Given the description of an element on the screen output the (x, y) to click on. 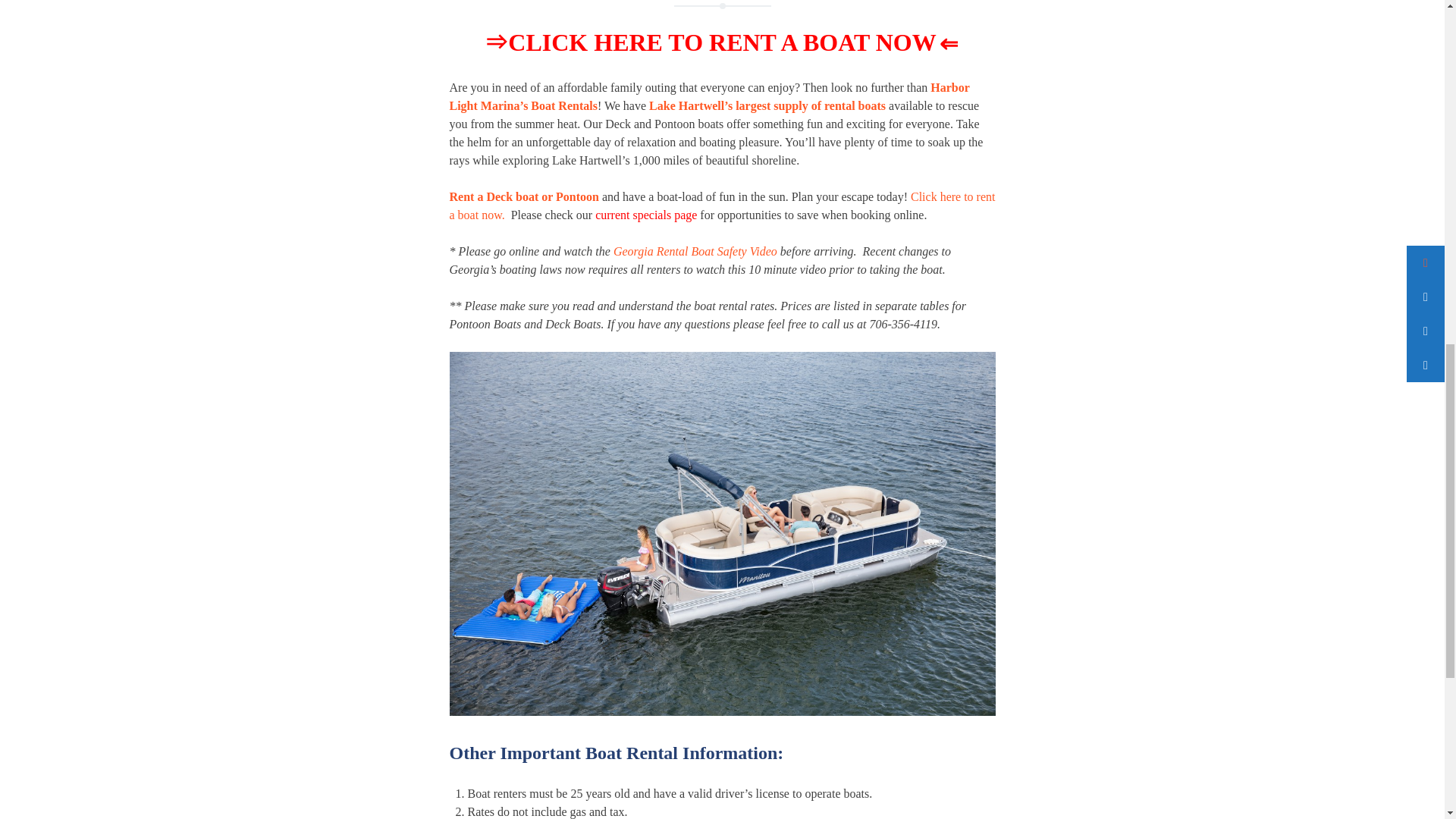
Georgia Rental Boat Safety Video (694, 250)
Rent a Deck boat or Pontoon (523, 196)
Click here to rent a boat now. (721, 205)
current specials page (646, 214)
